Given the description of an element on the screen output the (x, y) to click on. 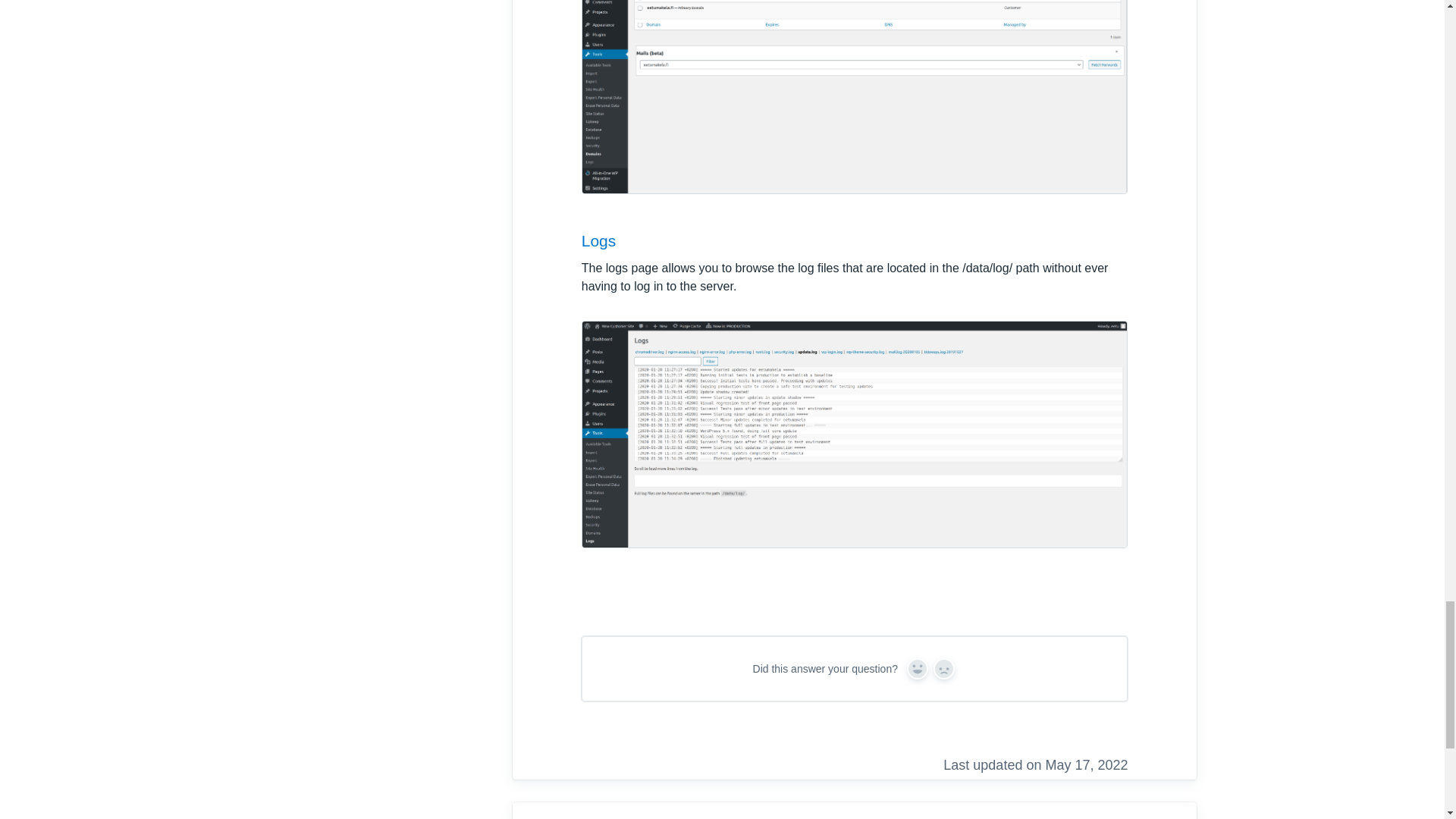
No (944, 668)
Logs (597, 240)
Yes (917, 668)
